Given the description of an element on the screen output the (x, y) to click on. 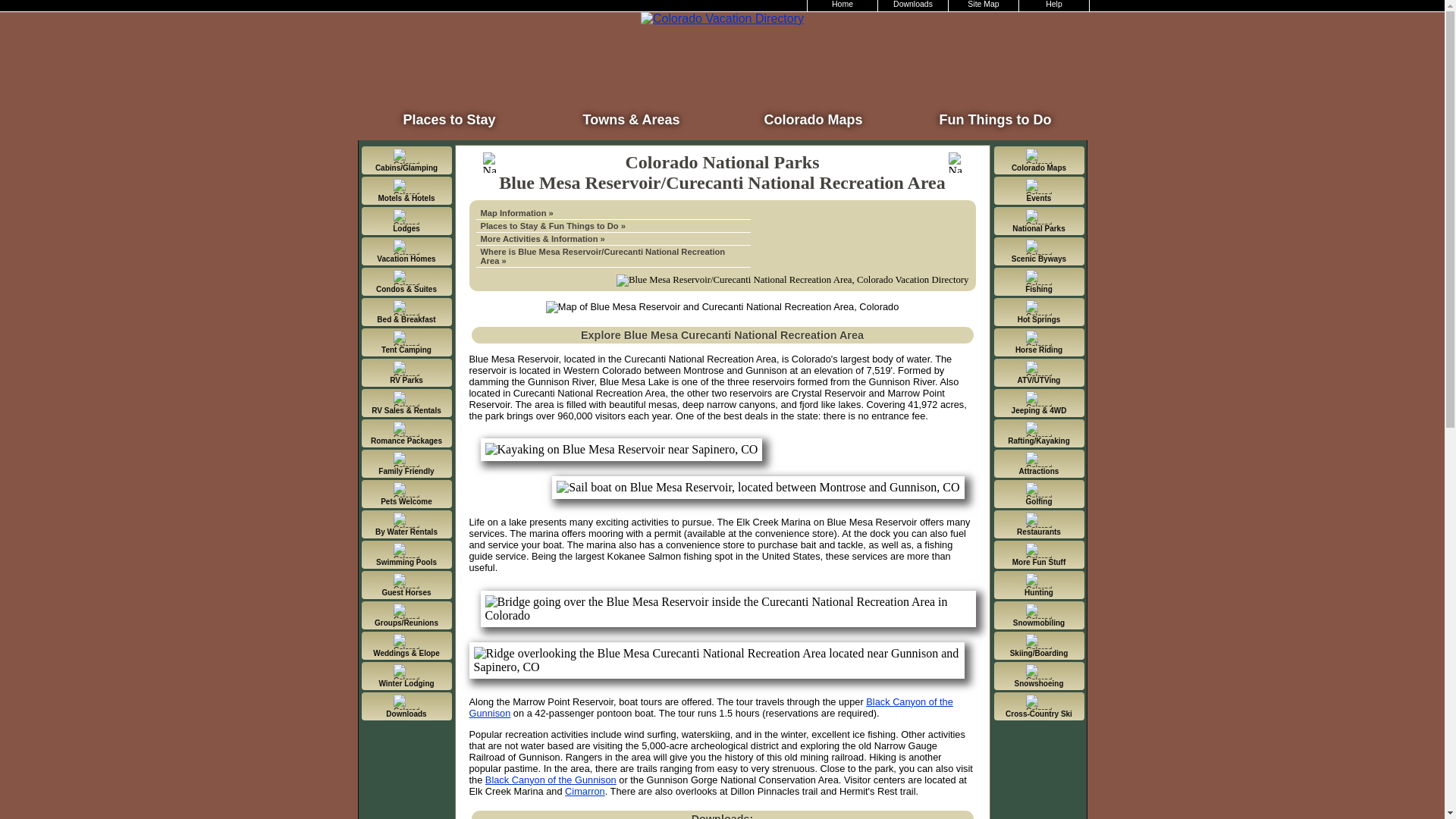
Downloads (913, 5)
Black Canyon of the Gunnison (710, 707)
Cimarron (584, 790)
Site Map (984, 5)
Colorado Vacation Homes (406, 251)
Help (1054, 5)
Places to Stay (449, 114)
Black Canyon of the Gunnison (549, 779)
Search for Places to Stay in Colorado (449, 114)
